Given the description of an element on the screen output the (x, y) to click on. 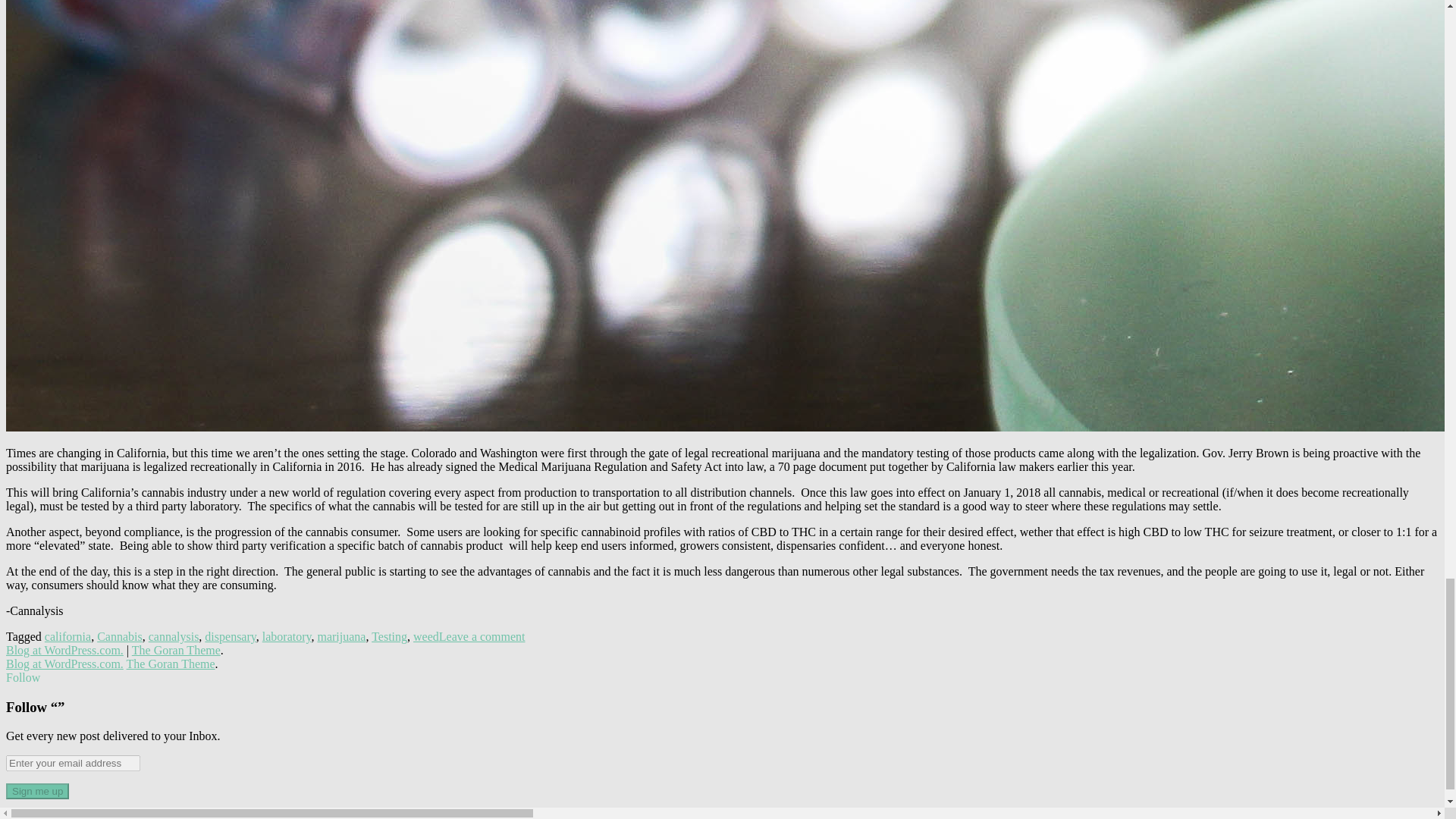
laboratory (286, 635)
Blog at WordPress.com. (64, 663)
california (67, 635)
Follow (22, 676)
The Goran Theme (170, 663)
dispensary (230, 635)
marijuana (341, 635)
Cannabis (119, 635)
Sign me up (36, 790)
weed (426, 635)
Learn more about this theme (176, 649)
Learn more about this theme (170, 663)
Testing (389, 635)
cannalysis (173, 635)
The Goran Theme (176, 649)
